Given the description of an element on the screen output the (x, y) to click on. 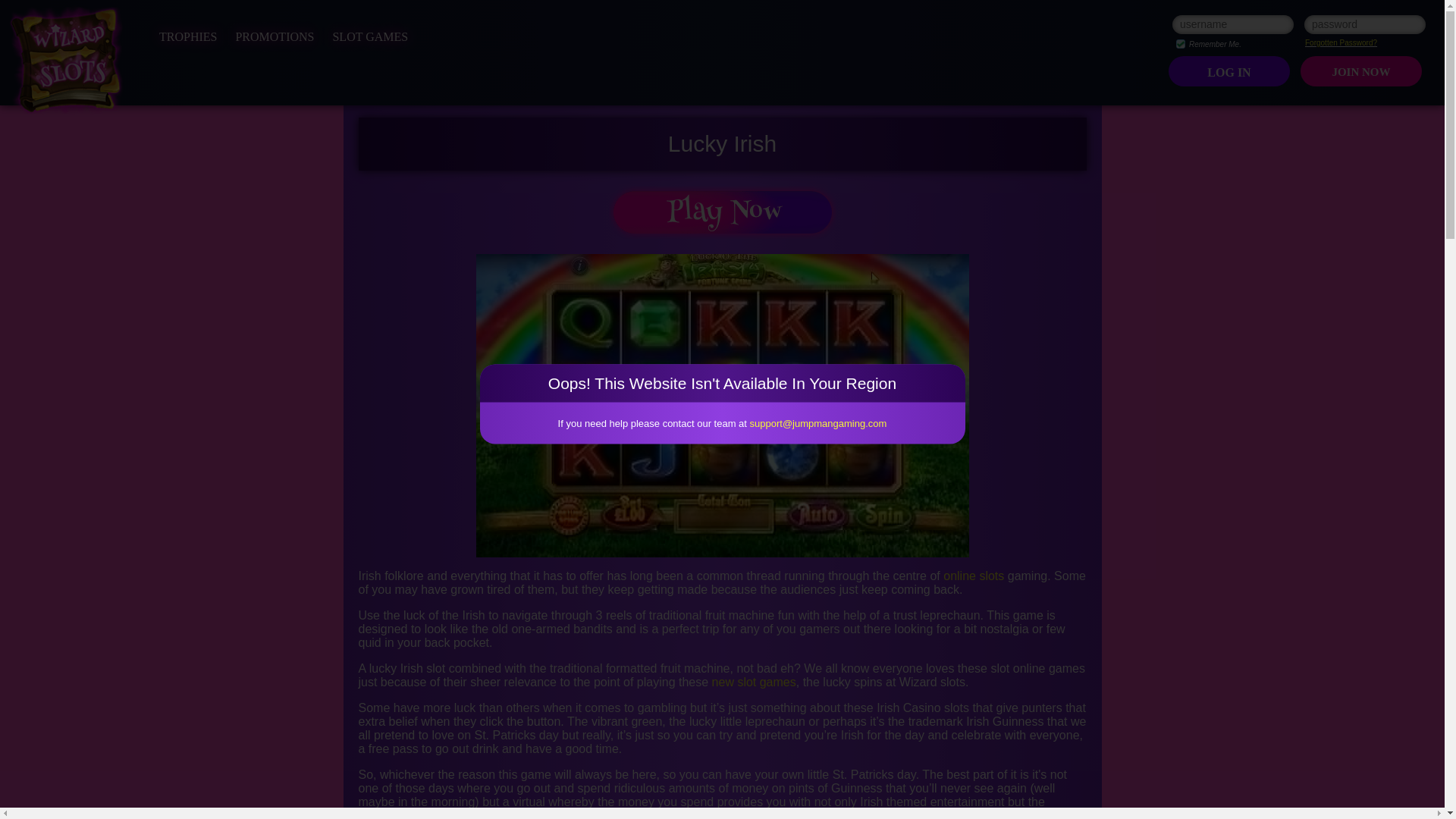
online slots (973, 575)
PROMOTIONS (274, 36)
new slot games (753, 681)
Online slots site - Wizard Slots (66, 60)
1 (1180, 43)
Forgotten Password? (1340, 42)
TROPHIES (187, 36)
SLOT GAMES (369, 36)
